Given the description of an element on the screen output the (x, y) to click on. 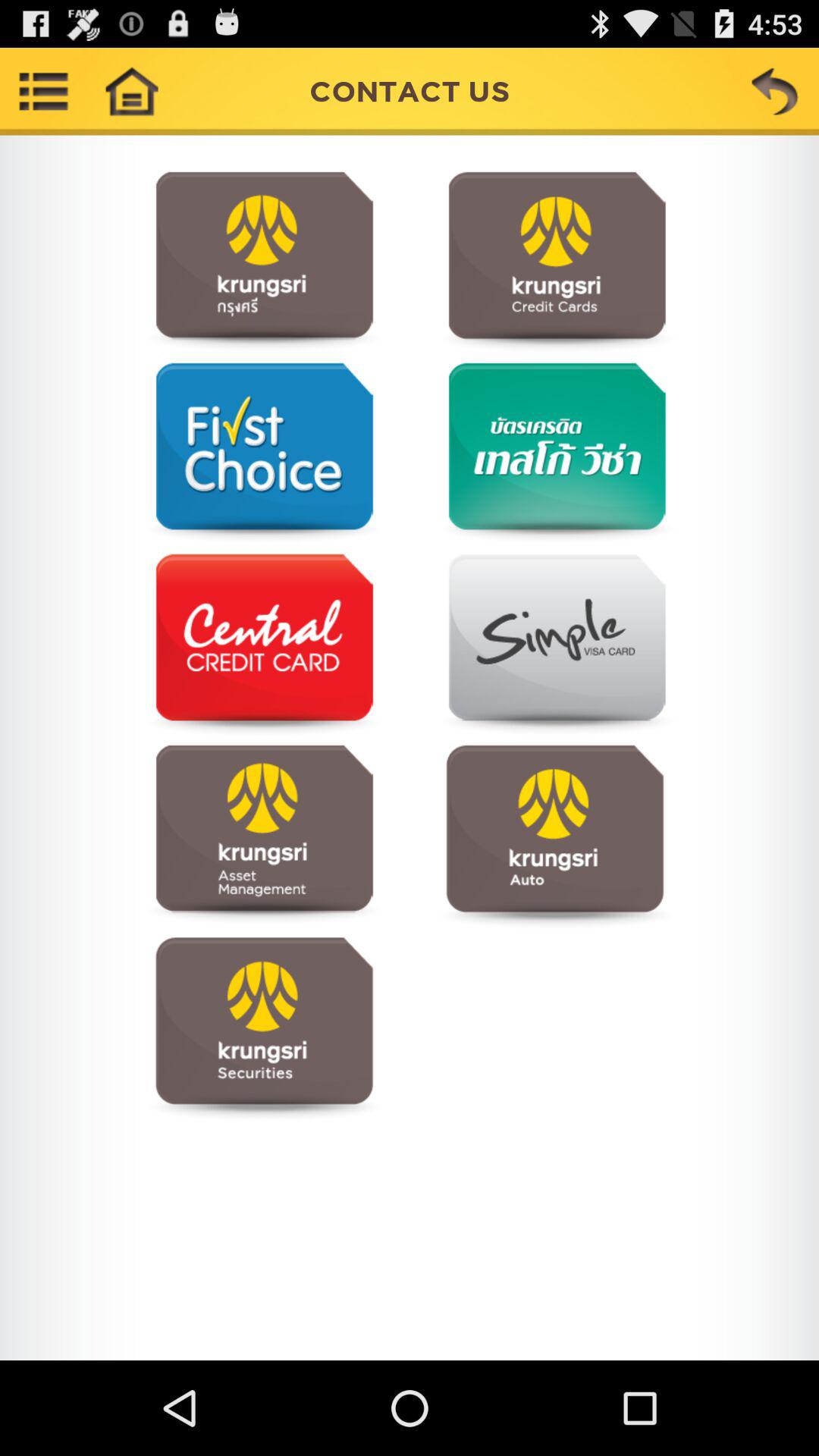
simple visa card (554, 644)
